Given the description of an element on the screen output the (x, y) to click on. 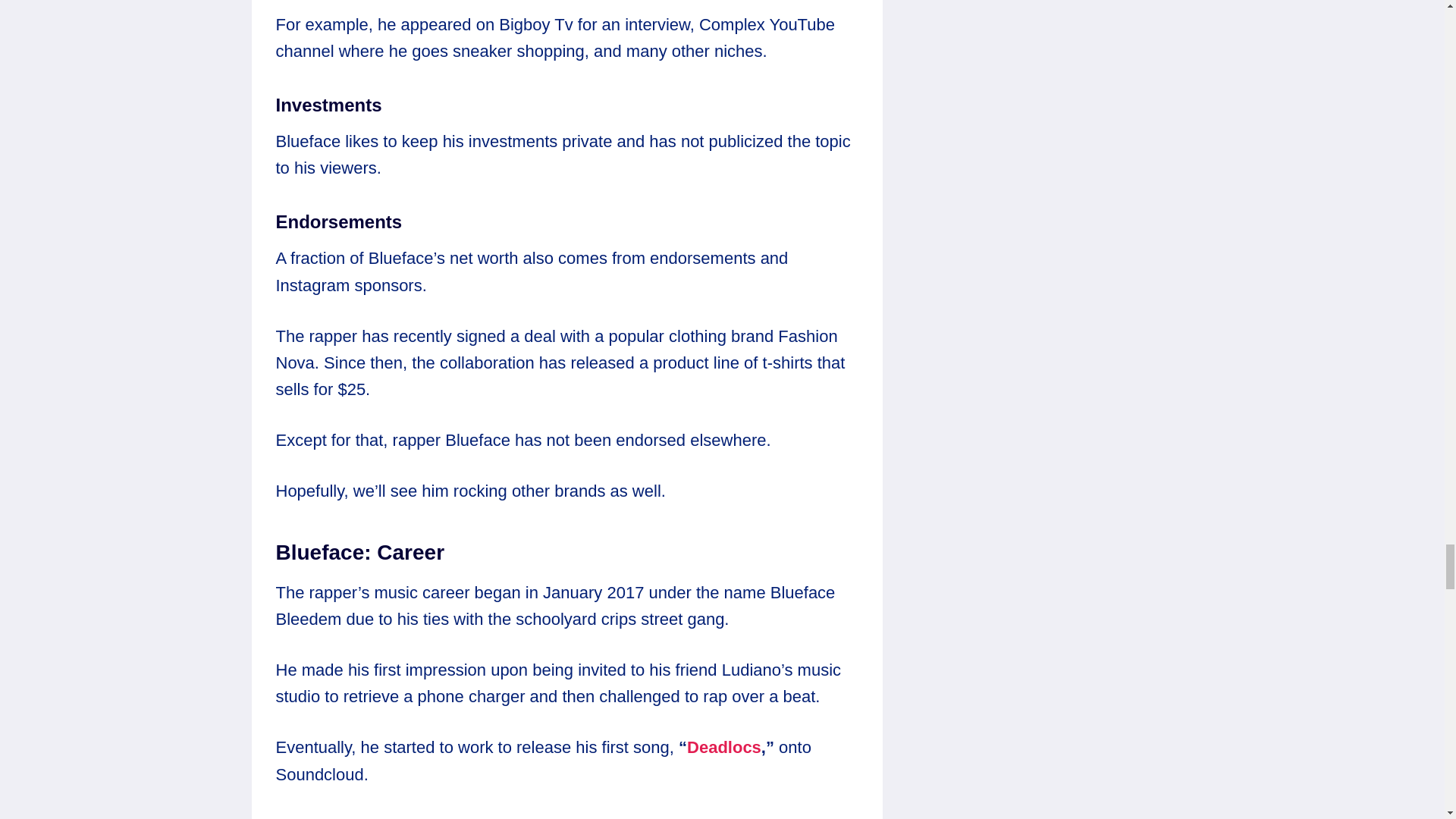
Deadlocs (724, 746)
